Given the description of an element on the screen output the (x, y) to click on. 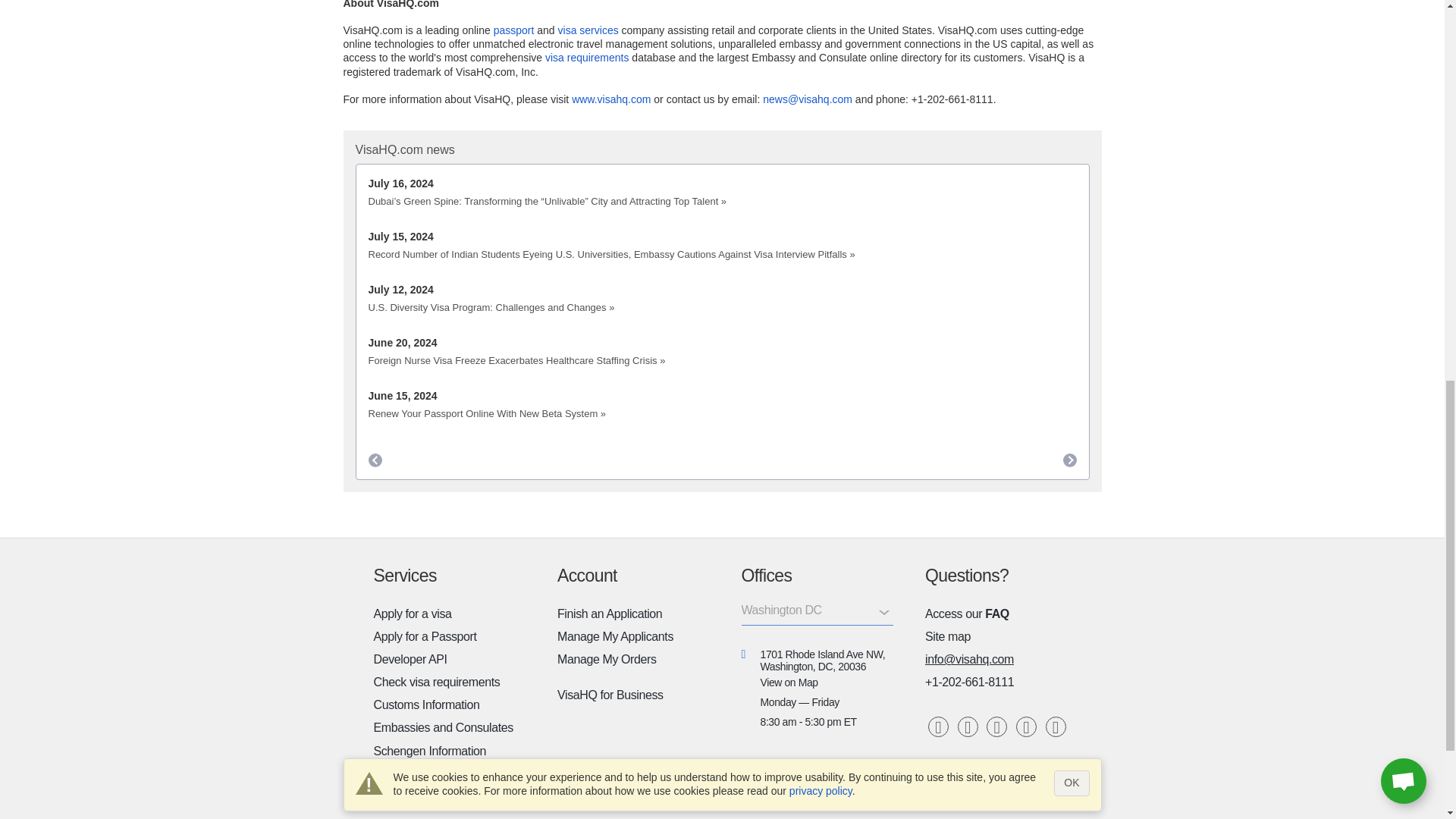
www.visahq.com (611, 99)
passport (513, 30)
visa services (587, 30)
visa requirements (586, 57)
